Given the description of an element on the screen output the (x, y) to click on. 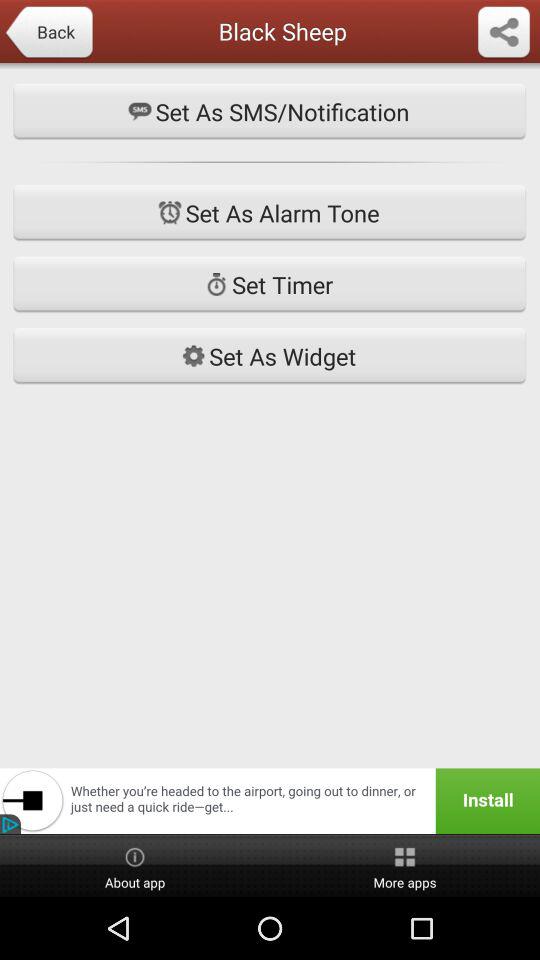
click icon below the set as widget icon (270, 800)
